Given the description of an element on the screen output the (x, y) to click on. 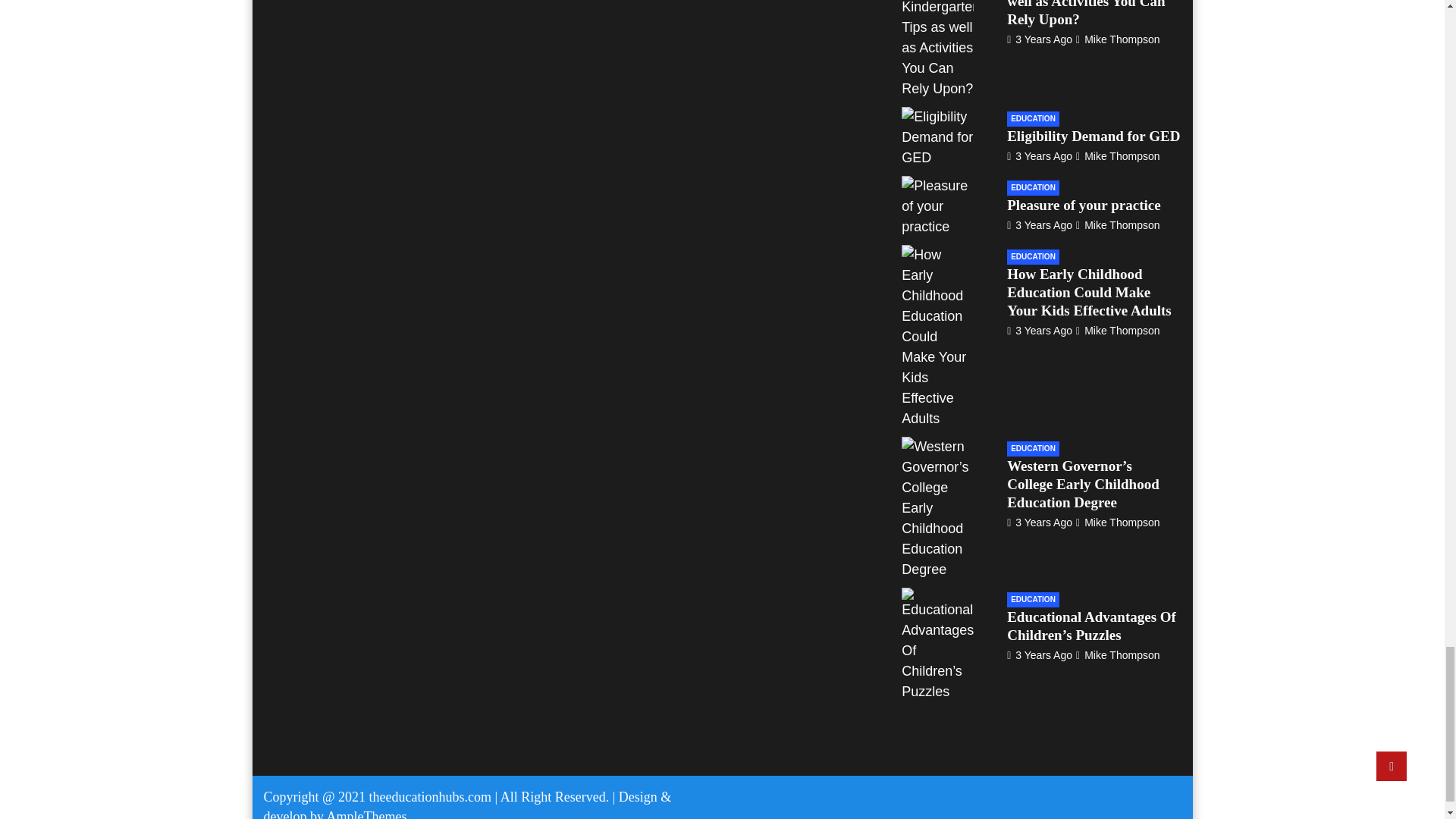
Pleasure of your practice (1039, 224)
Eligibility Demand for GED (1039, 155)
